Given the description of an element on the screen output the (x, y) to click on. 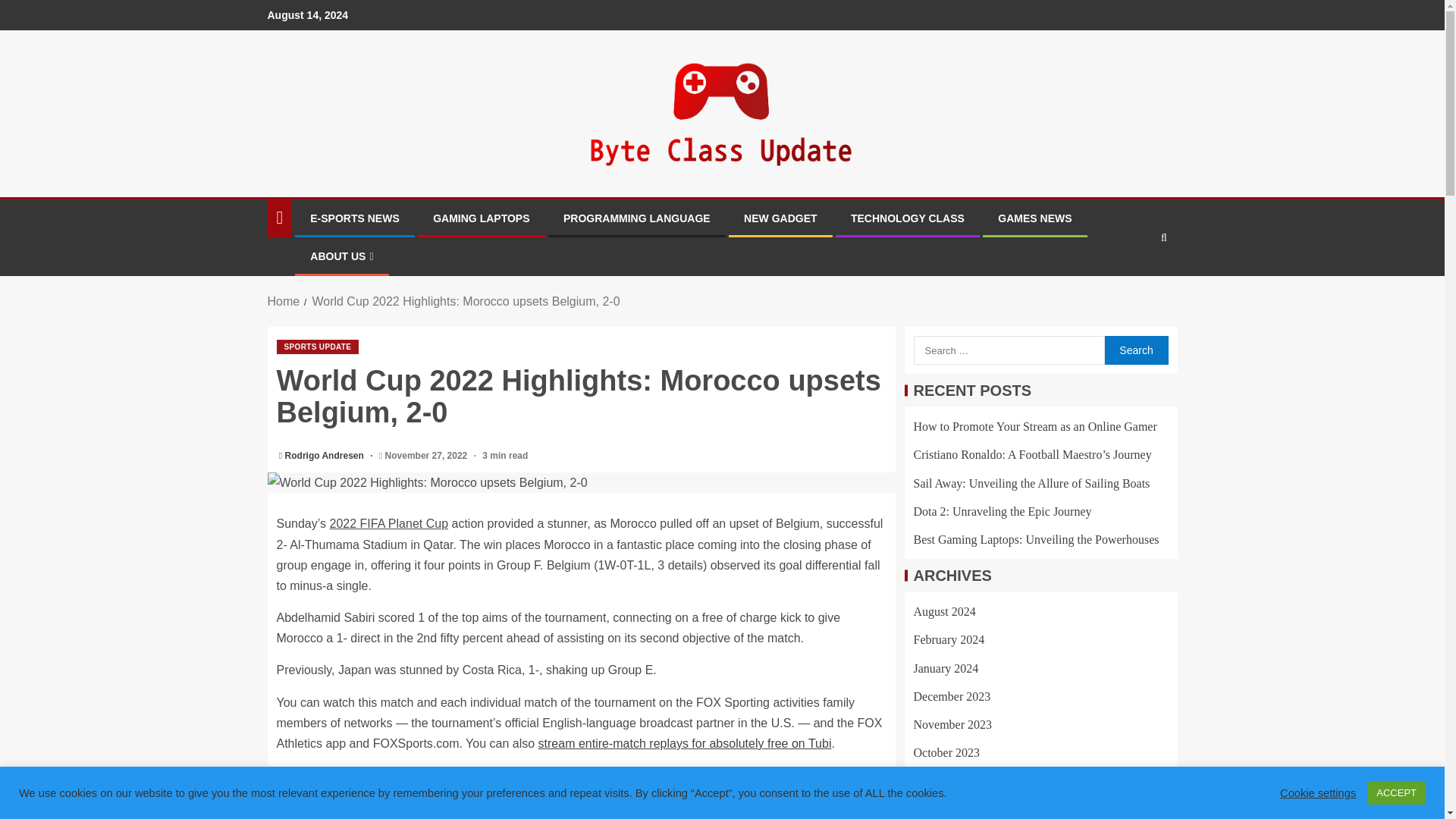
Home (282, 300)
NEW GADGET (780, 218)
TECHNOLOGY CLASS (906, 218)
Search (1135, 349)
PROGRAMMING LANGUAGE (636, 218)
stream entire-match replays for absolutely free on Tubi (684, 743)
World Cup 2022 Highlights: Morocco upsets Belgium, 2-0 (465, 300)
World Cup 2022 Highlights: Morocco upsets Belgium, 2-0 (580, 482)
SPORTS UPDATE (317, 346)
Rodrigo Andresen (325, 455)
